Given the description of an element on the screen output the (x, y) to click on. 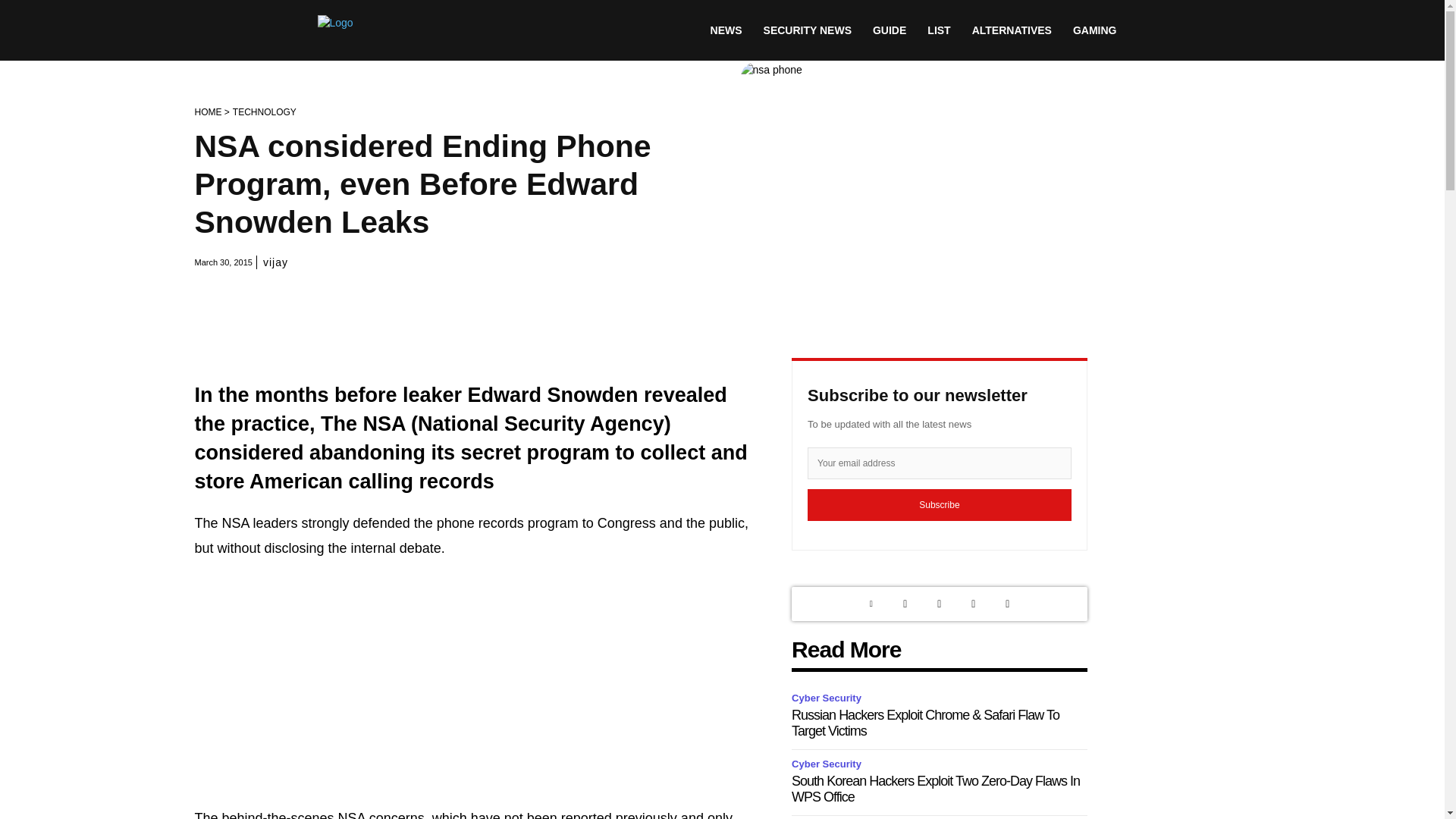
nsa-internet-phone-703 (994, 187)
Cyber Security (829, 764)
Linkedin (870, 603)
ALTERNATIVES (1011, 30)
Youtube (1007, 603)
Twitter (904, 603)
GAMING (1094, 30)
Cyber Security (829, 698)
vijay (275, 262)
